Given the description of an element on the screen output the (x, y) to click on. 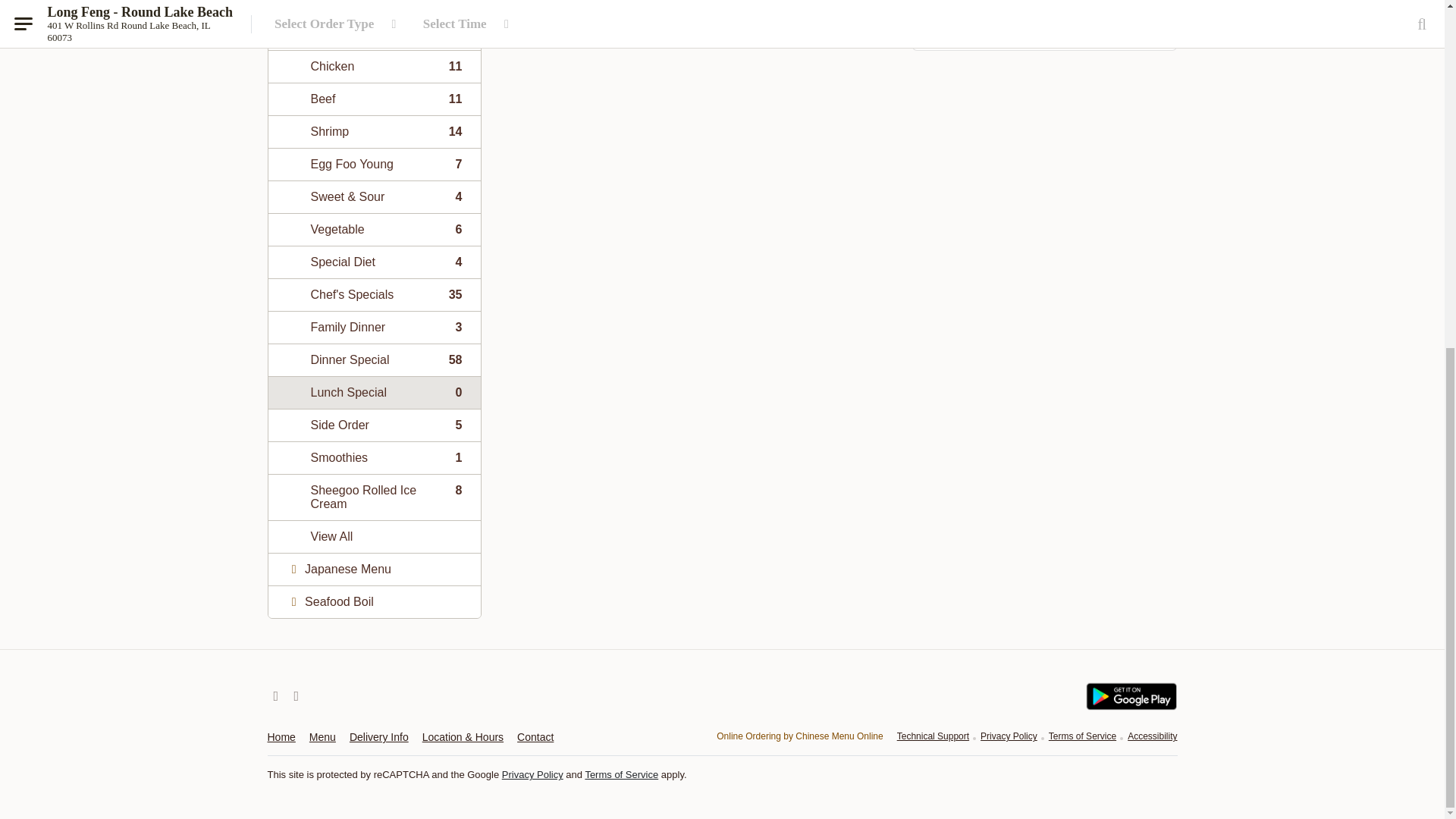
Opens in new tab (373, 33)
Opens in new tab (373, 131)
Proceed to checkout (373, 65)
